Given the description of an element on the screen output the (x, y) to click on. 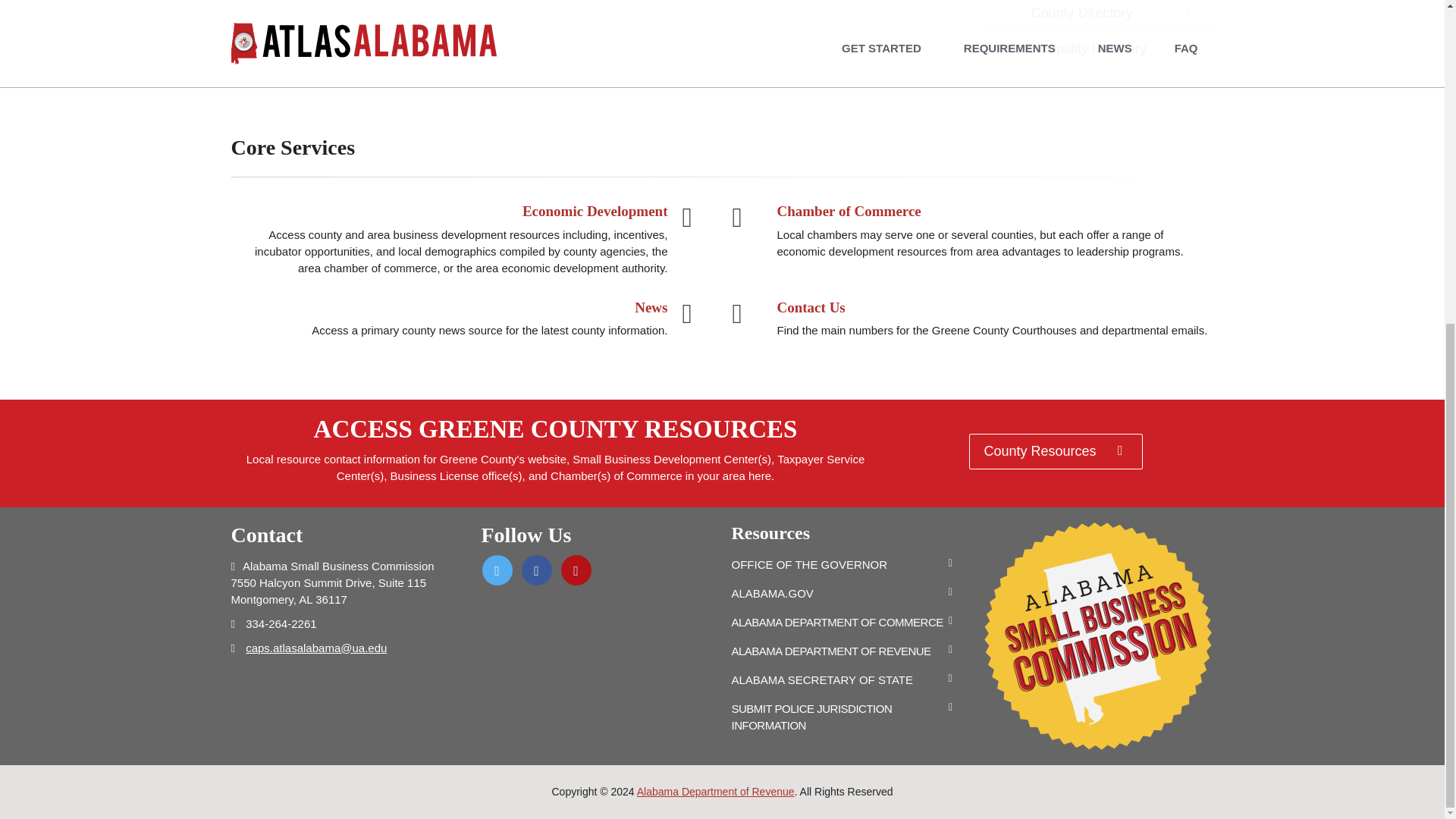
Facebook (536, 570)
County Resources (1055, 451)
YouTube (575, 570)
Chamber of Commerce (848, 211)
Economic Development (595, 211)
County Directory (1096, 15)
Twitter (496, 570)
ALABAMA.GOV (846, 593)
News (650, 307)
ALABAMA DEPARTMENT OF REVENUE (846, 650)
YouTube (575, 570)
OFFICE OF THE GOVERNOR (846, 564)
SUBMIT POLICE JURISDICTION INFORMATION (846, 717)
Alabama Department of Revenue (715, 791)
ALABAMA DEPARTMENT OF COMMERCE (846, 621)
